Given the description of an element on the screen output the (x, y) to click on. 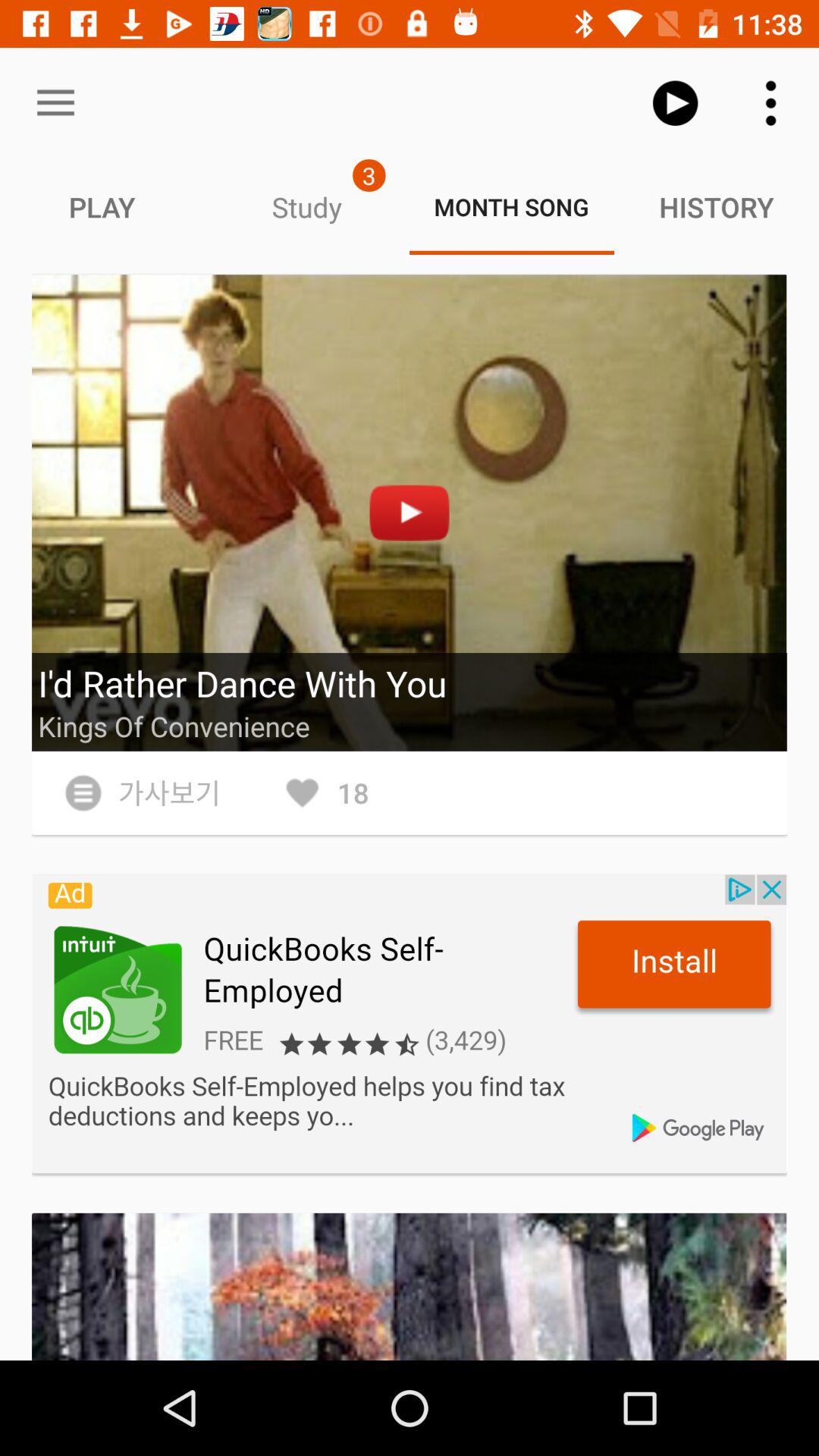
select the favourite icon (324, 793)
tab right to the text month song (716, 206)
select the image at the bottom of the screen (409, 1285)
select the image which is in the bottom of the page (409, 1285)
